Given the description of an element on the screen output the (x, y) to click on. 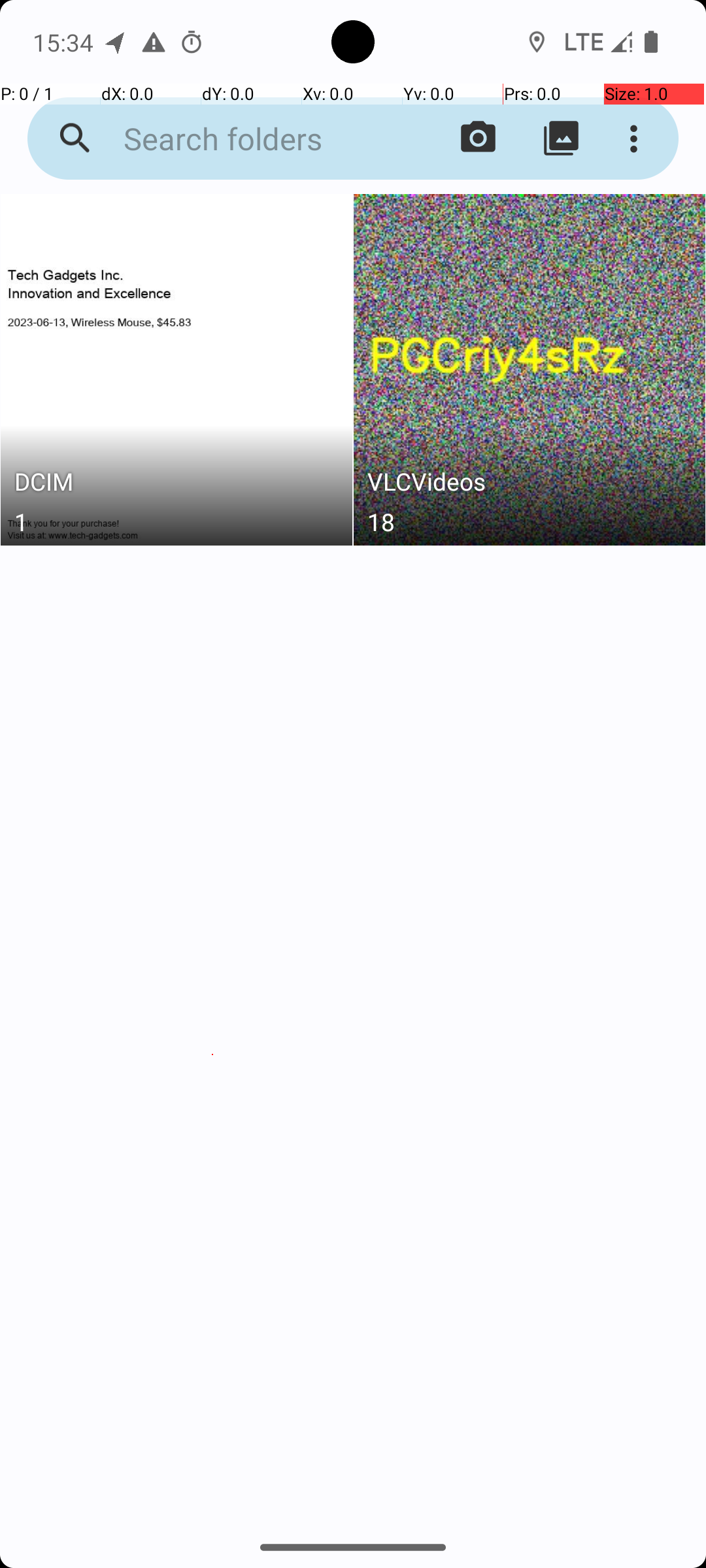
Search folders Element type: android.widget.EditText (252, 138)
Open camera Element type: android.widget.Button (477, 138)
Show all folders content Element type: android.widget.Button (560, 138)
DCIM Element type: android.widget.TextView (176, 484)
VLCVideos Element type: android.widget.TextView (529, 484)
OpenTracks notification: Distance: 8.20 mi Element type: android.widget.ImageView (115, 41)
